Given the description of an element on the screen output the (x, y) to click on. 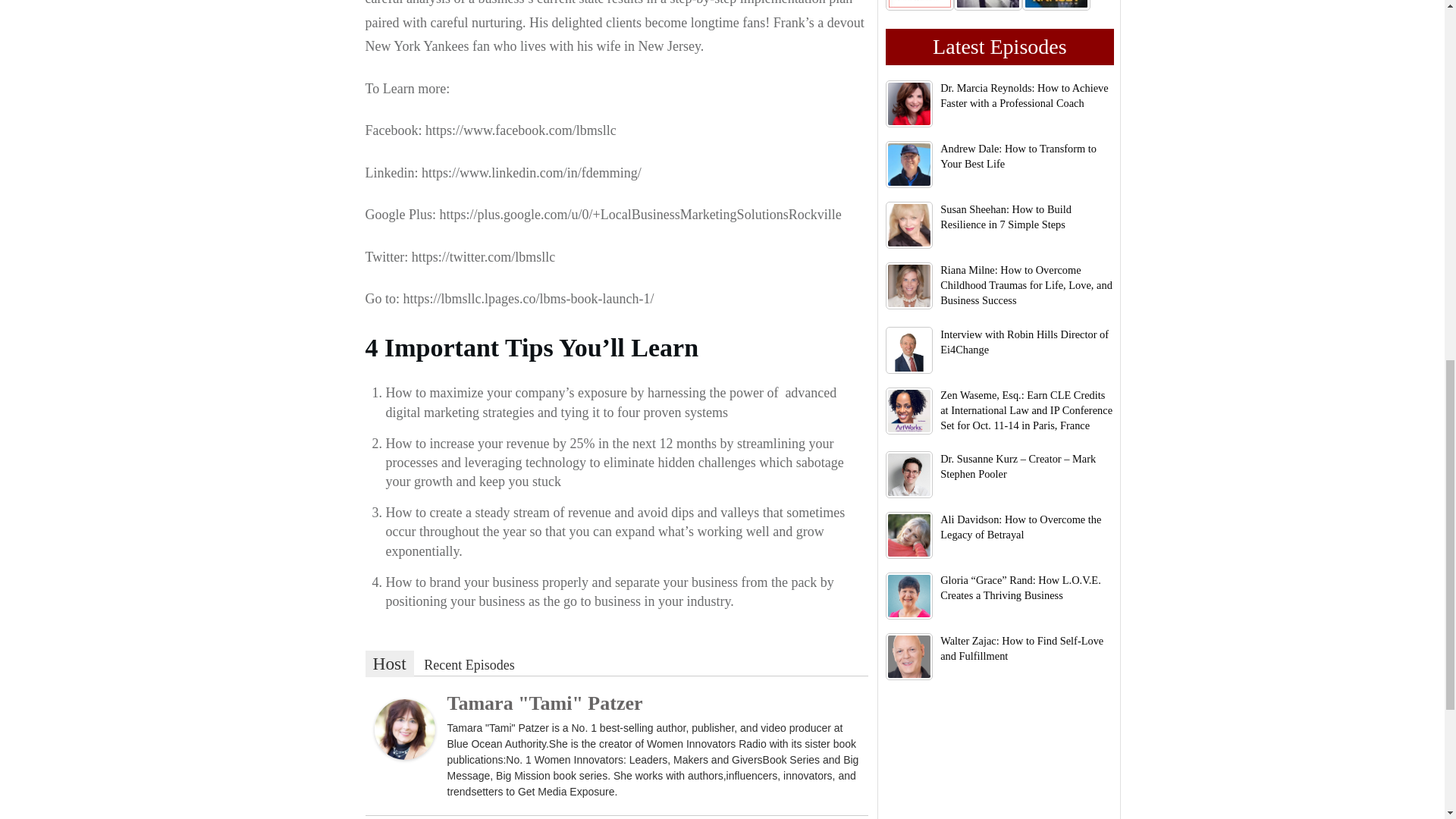
Recent Episodes (468, 665)
The Dave Ramsey Show (1056, 5)
Host (389, 663)
Tamara  (404, 728)
TED Talks Daily (919, 5)
Tamara "Tami" Patzer (544, 703)
